Given the description of an element on the screen output the (x, y) to click on. 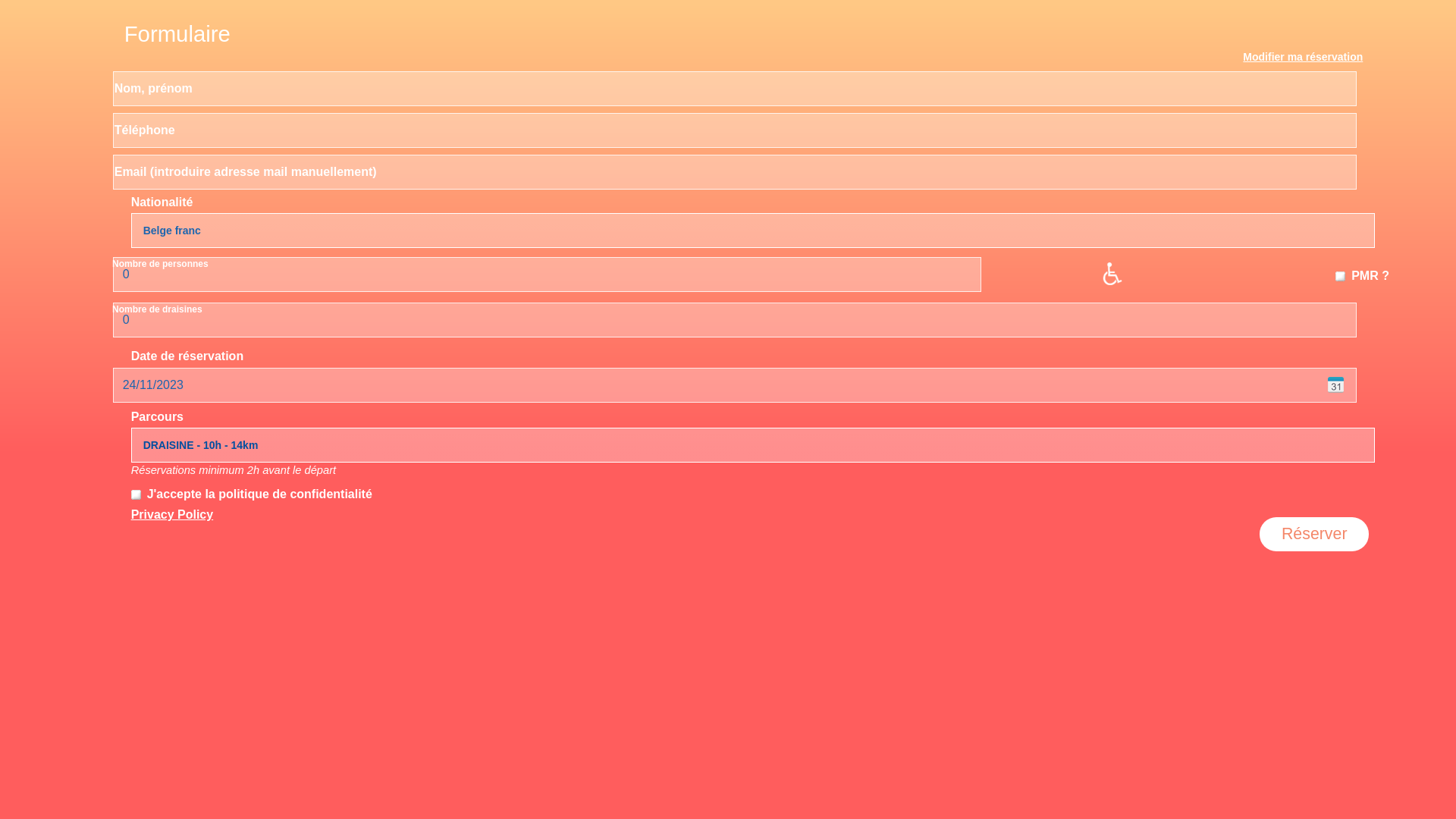
Privacy Policy Element type: text (172, 514)
